Given the description of an element on the screen output the (x, y) to click on. 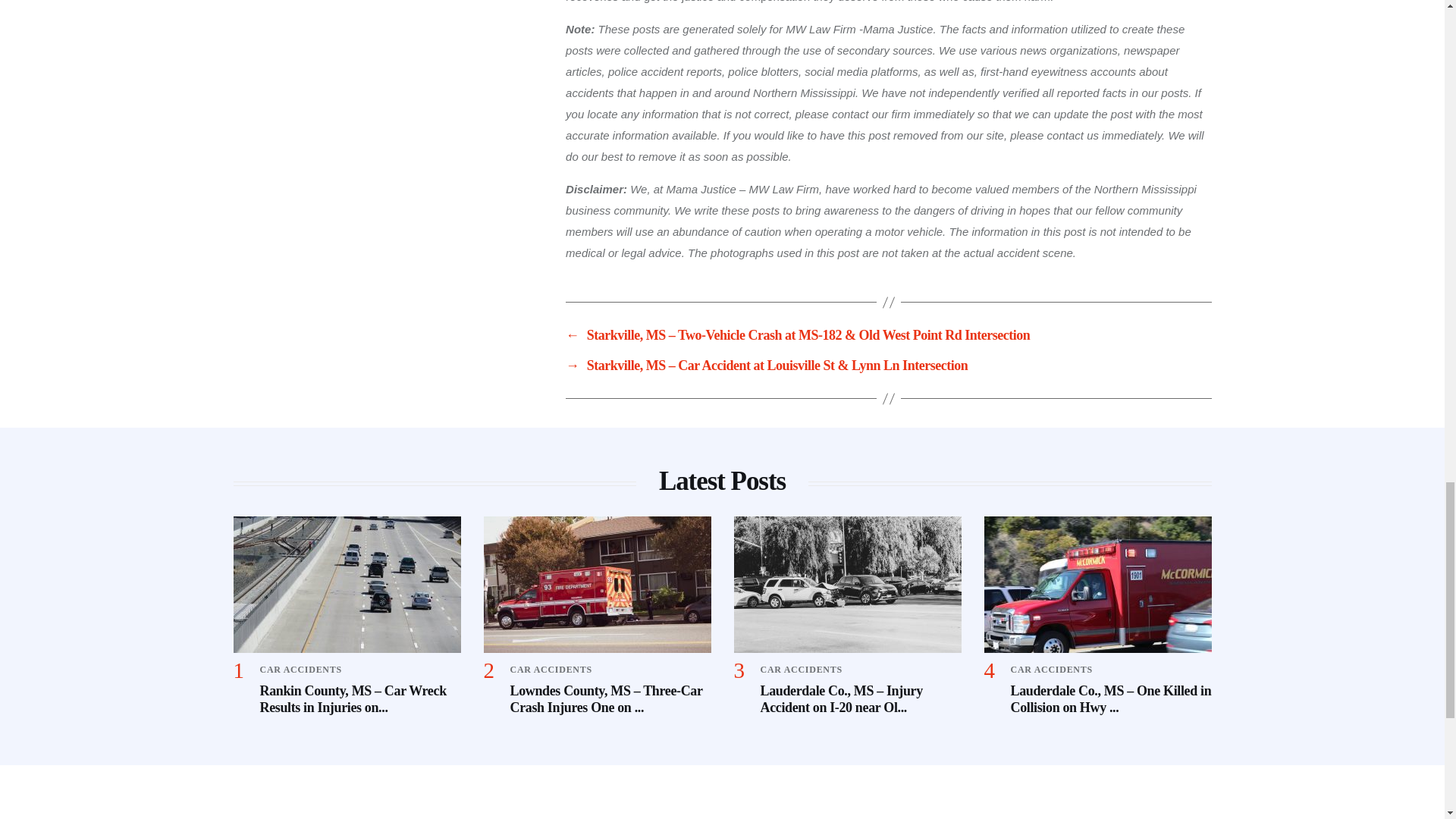
CAR ACCIDENTS (800, 669)
CAR ACCIDENTS (1051, 669)
CAR ACCIDENTS (299, 669)
CAR ACCIDENTS (550, 669)
